Given the description of an element on the screen output the (x, y) to click on. 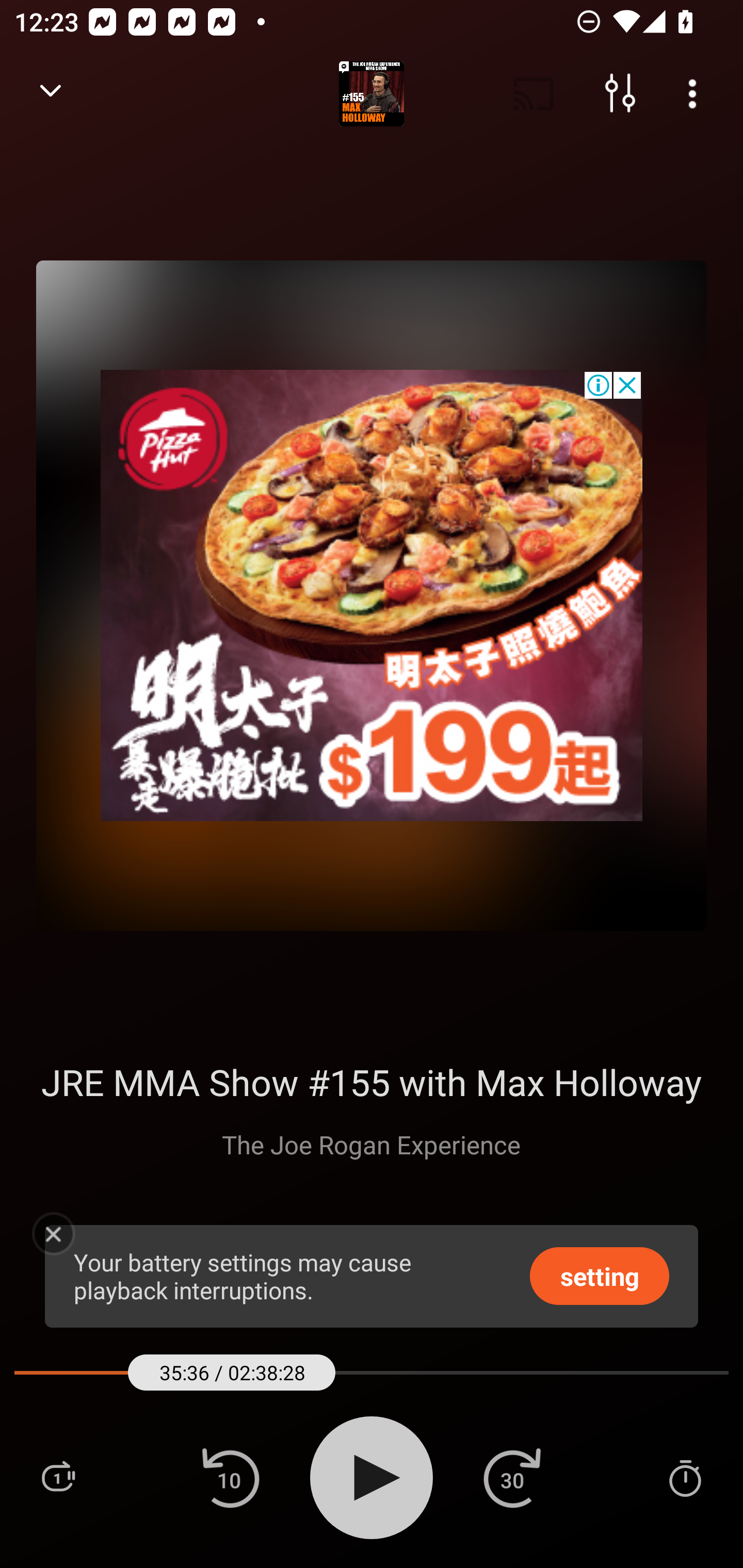
 Back (50, 94)
Advertisement (371, 595)
JRE MMA Show #155 with Max Holloway (370, 1081)
The Joe Rogan Experience (370, 1144)
setting (599, 1275)
 Playlist (57, 1477)
Sleep Timer  (684, 1477)
